Given the description of an element on the screen output the (x, y) to click on. 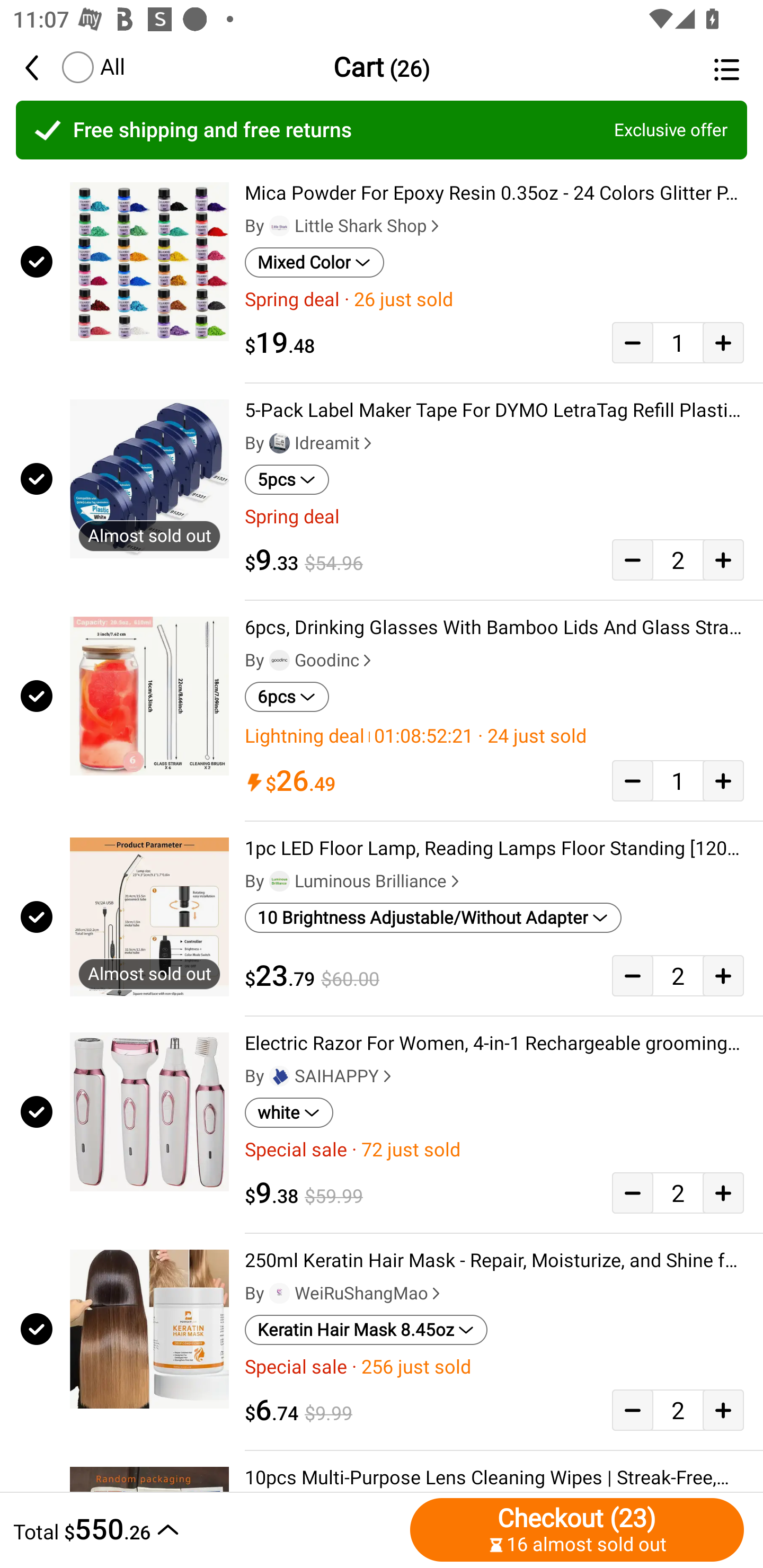
back (41, 67)
Select all tick button All (92, 67)
Free shipping and free returns Exclusive offer (381, 129)
Product checkbox checked (35, 260)
By Little Shark Shop (343, 226)
Mixed Color (313, 262)
Spring deal · 26 just sold (493, 299)
Decrease quantity button (632, 342)
1 (677, 342)
Add quantity button (722, 342)
Product checkbox checked (35, 478)
By Idreamit (309, 442)
5pcs (286, 479)
Spring deal (493, 517)
Decrease quantity button (632, 559)
2 (677, 559)
Add quantity button (722, 559)
Product checkbox checked (35, 696)
By Goodinc (309, 660)
6pcs (286, 696)
Decrease quantity button (632, 780)
1 (677, 780)
Add quantity button (722, 780)
Product checkbox checked (35, 916)
By Luminous Brilliance (353, 881)
10 Brightness Adjustable/Without Adapter (432, 917)
Decrease quantity button (632, 974)
2 (677, 974)
Add quantity button (722, 974)
Product checkbox checked (35, 1112)
By SAIHAPPY (319, 1076)
white (288, 1112)
Special sale · 72 just sold (493, 1149)
Decrease quantity button (632, 1192)
2 (677, 1192)
Add quantity button (722, 1192)
Product checkbox checked (35, 1328)
By WeiRuShangMao (344, 1292)
Keratin Hair Mask 8.45oz (365, 1330)
Special sale · 256 just sold (493, 1367)
Decrease quantity button (632, 1409)
2 (677, 1409)
Add quantity button (722, 1409)
Total $550.26 (206, 1529)
Checkout Checkout (23) ￼16 almost sold out (576, 1529)
